Given the description of an element on the screen output the (x, y) to click on. 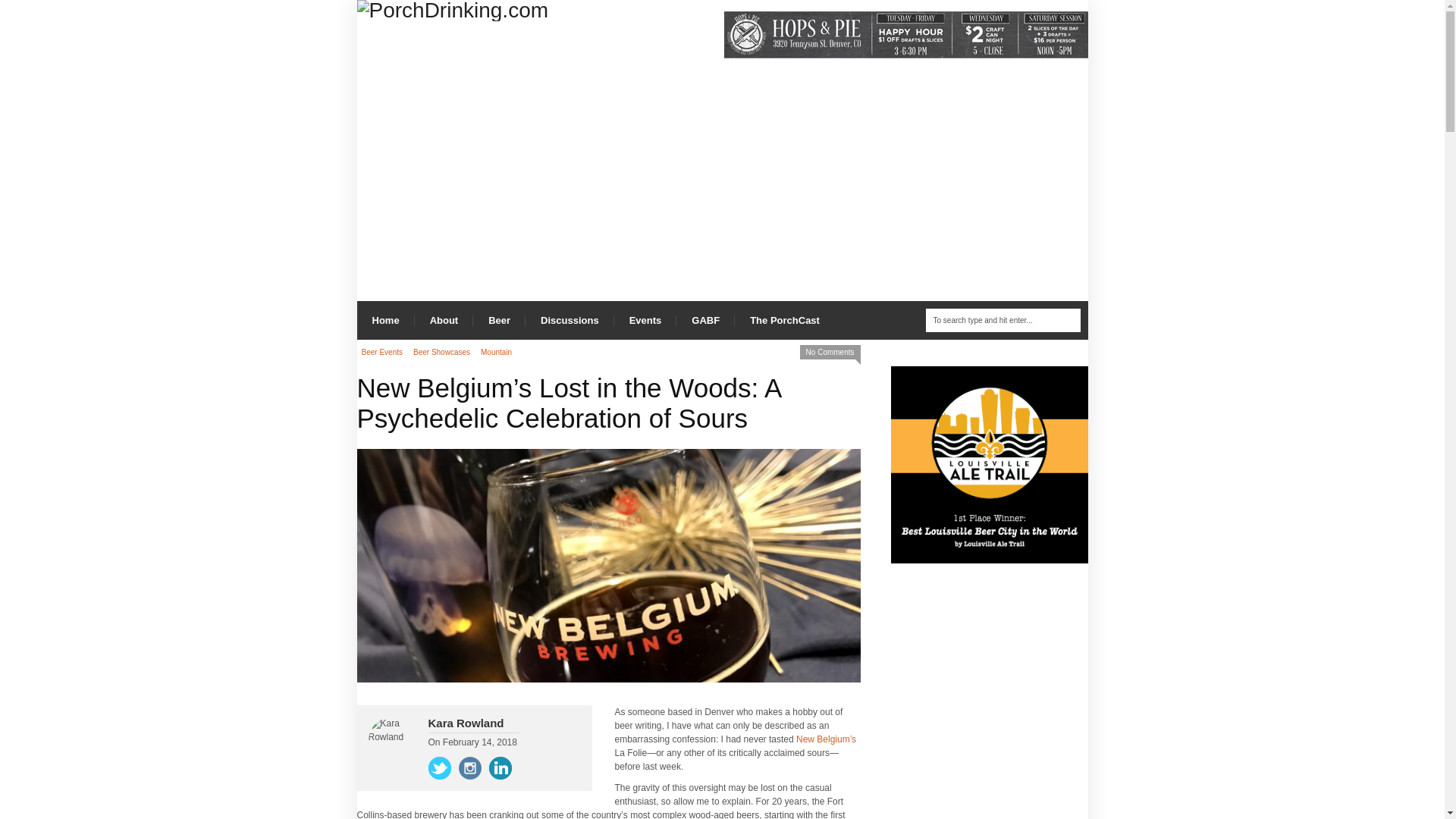
Beer (499, 320)
Discussions (569, 320)
GABF (706, 320)
The PorchCast (784, 320)
Events (645, 320)
To search type and hit enter... (1002, 320)
About (444, 320)
Home (384, 320)
Posts by Kara Rowland (465, 722)
